Given the description of an element on the screen output the (x, y) to click on. 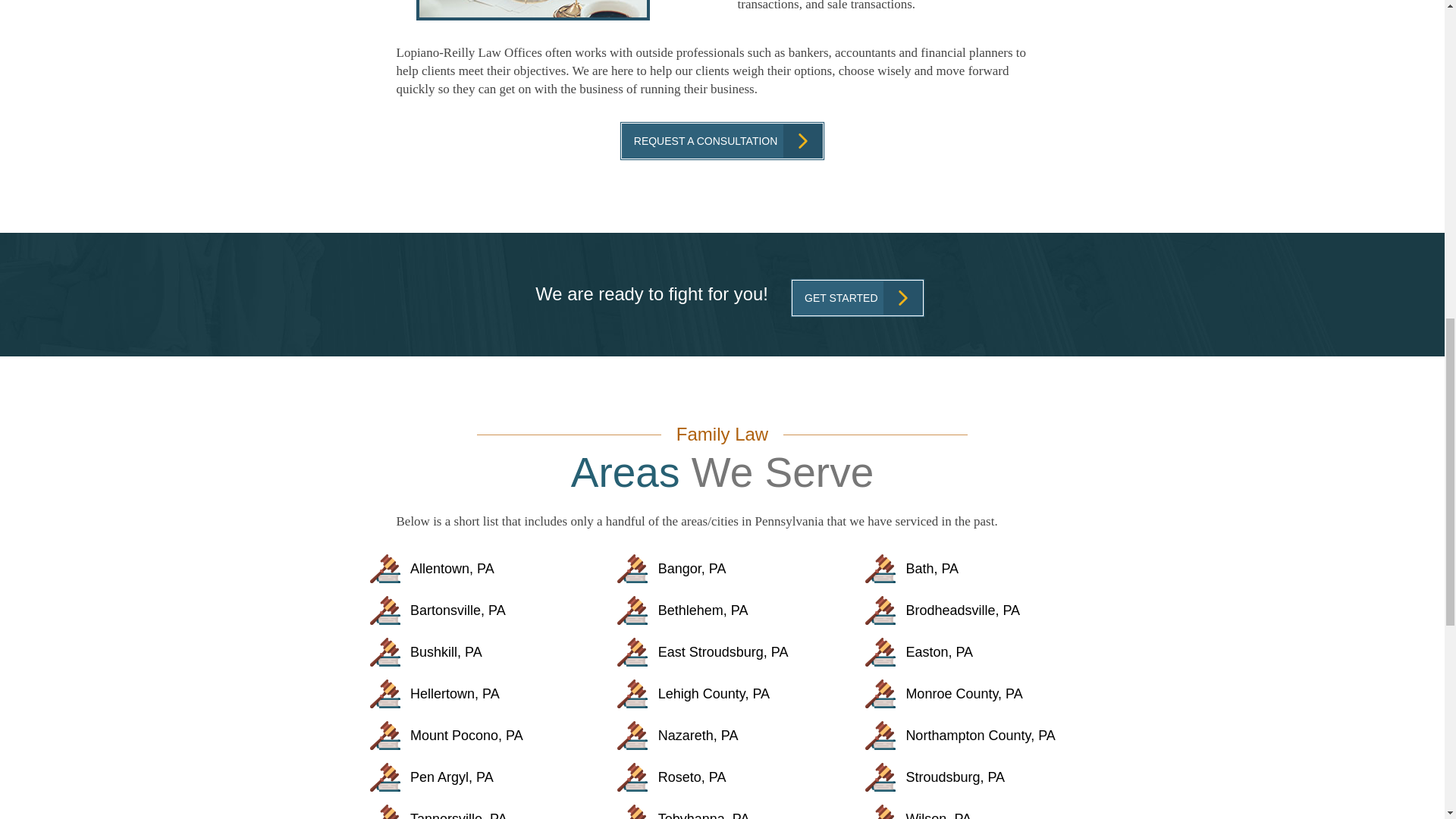
GET STARTED (857, 298)
REQUEST A CONSULTATION (722, 140)
